Given the description of an element on the screen output the (x, y) to click on. 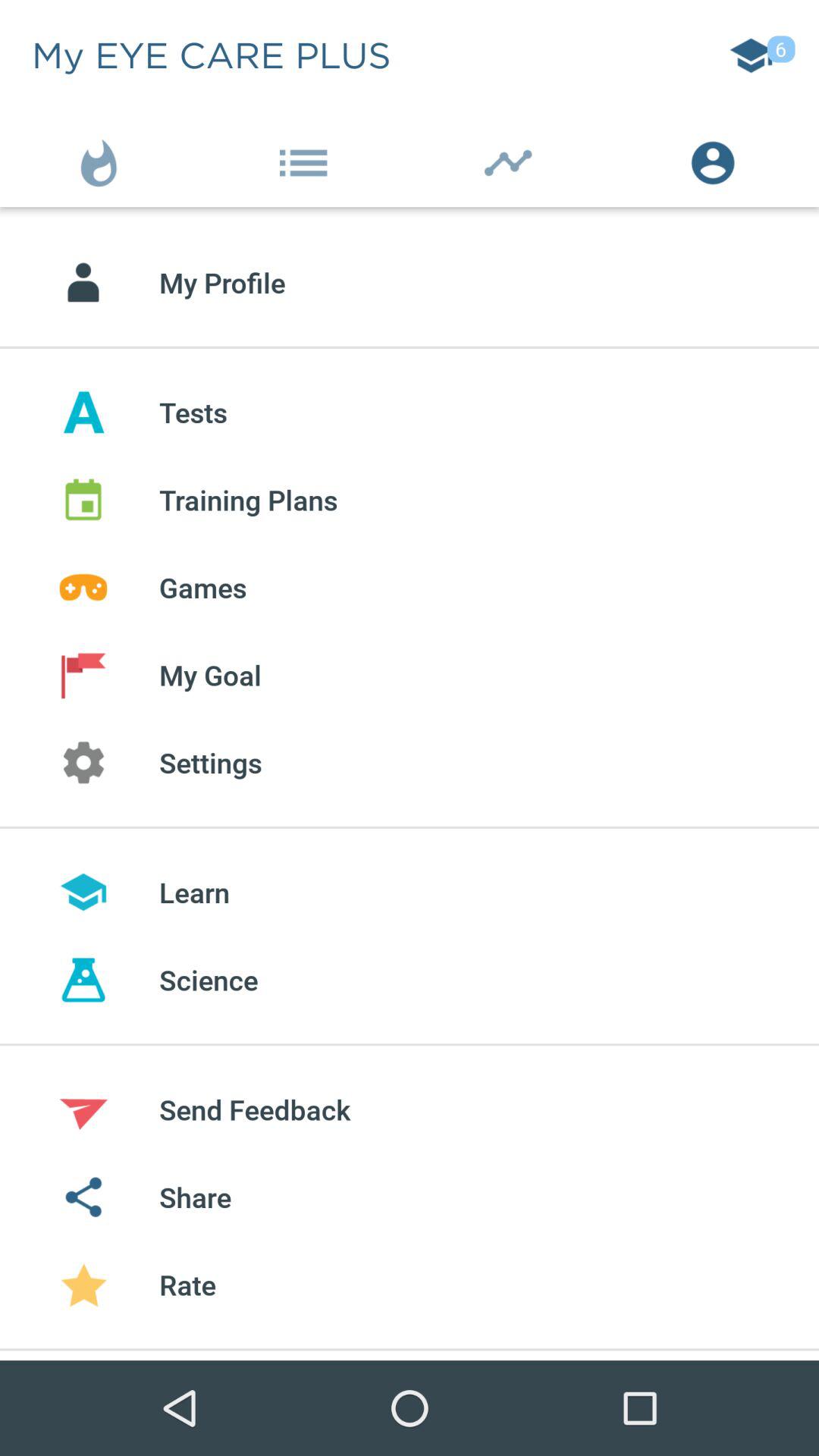
press the item to the left of the (102, 159)
